Given the description of an element on the screen output the (x, y) to click on. 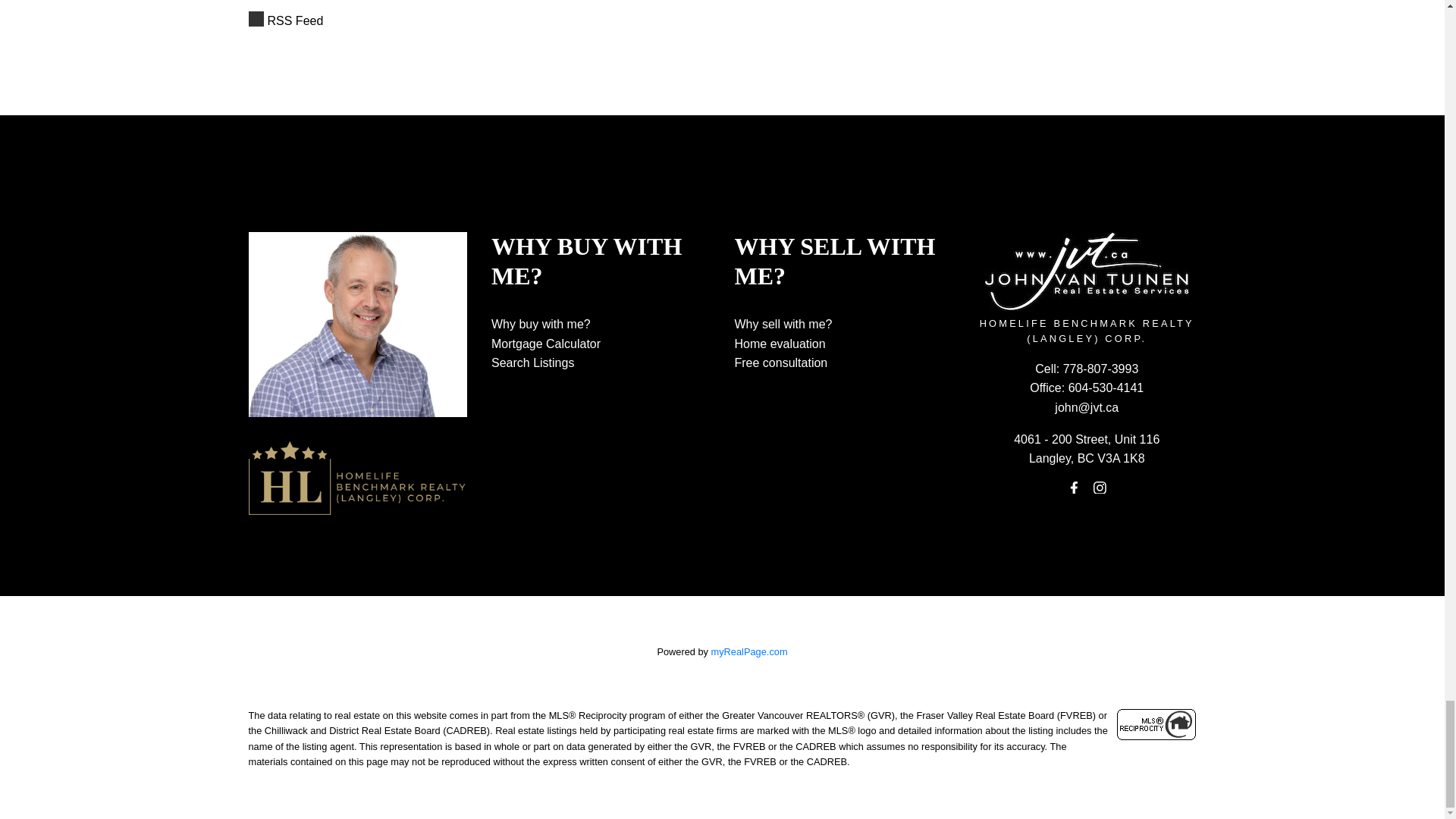
instagram (1099, 486)
Facebook (1073, 486)
RSS (616, 21)
